Given the description of an element on the screen output the (x, y) to click on. 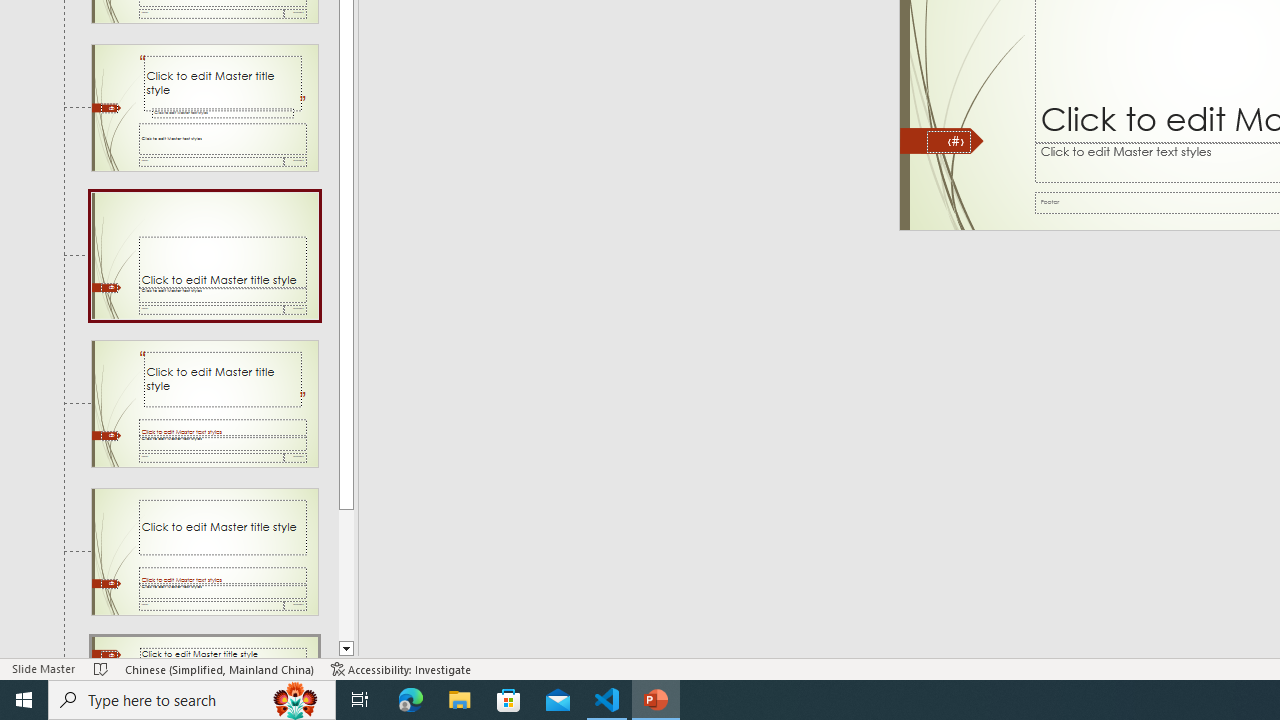
Slide Quote with Caption Layout: used by no slides (204, 107)
Freeform 11 (941, 141)
Slide True or False Layout: used by no slides (204, 551)
Slide Name Card Layout: used by no slides (204, 255)
Slide Title and Vertical Text Layout: used by no slides (204, 647)
Slide Quote Name Card Layout: used by no slides (204, 404)
Slide Number (948, 141)
